Given the description of an element on the screen output the (x, y) to click on. 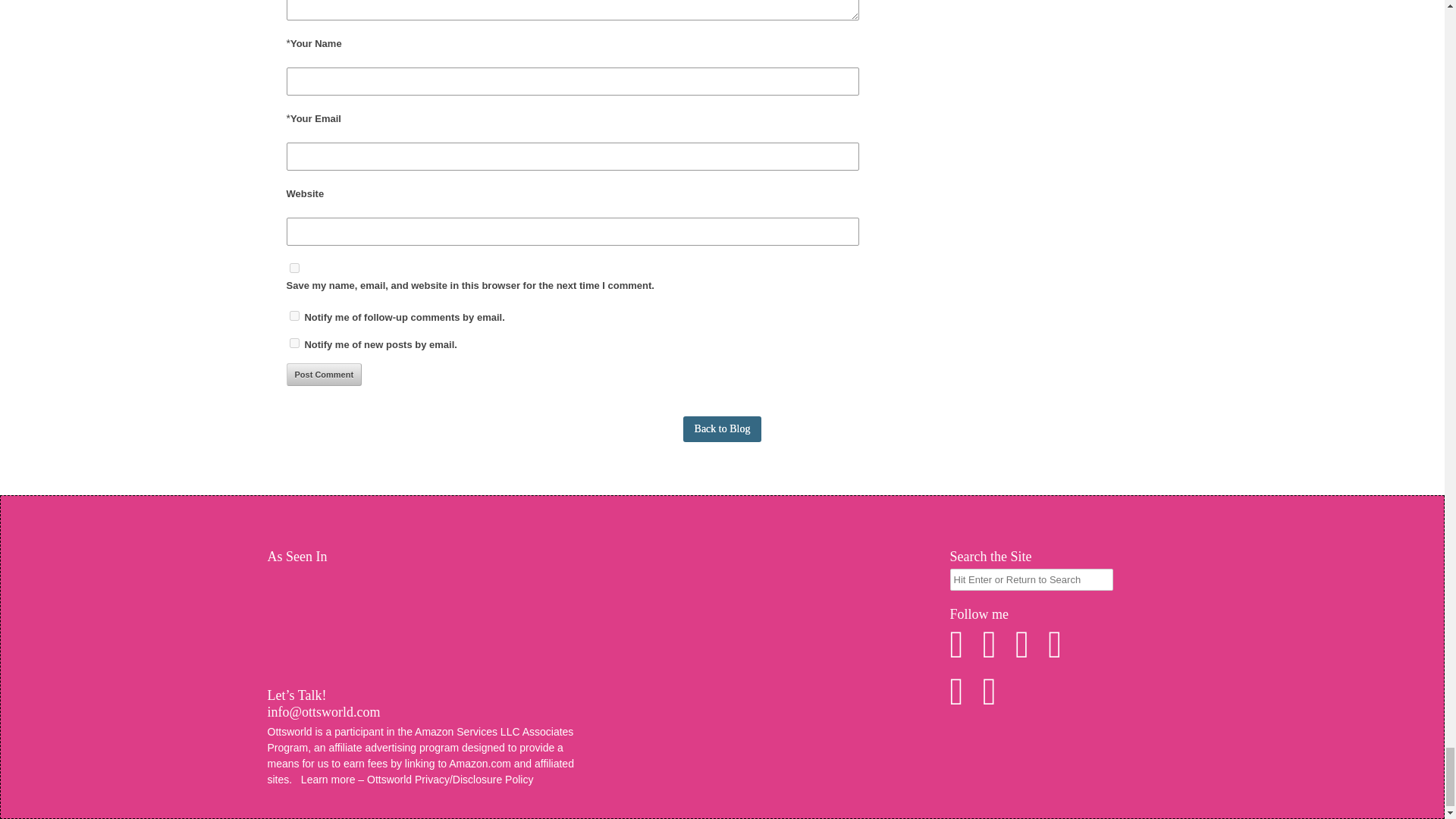
yes (294, 267)
subscribe (294, 343)
subscribe (294, 316)
Post Comment (324, 374)
